Given the description of an element on the screen output the (x, y) to click on. 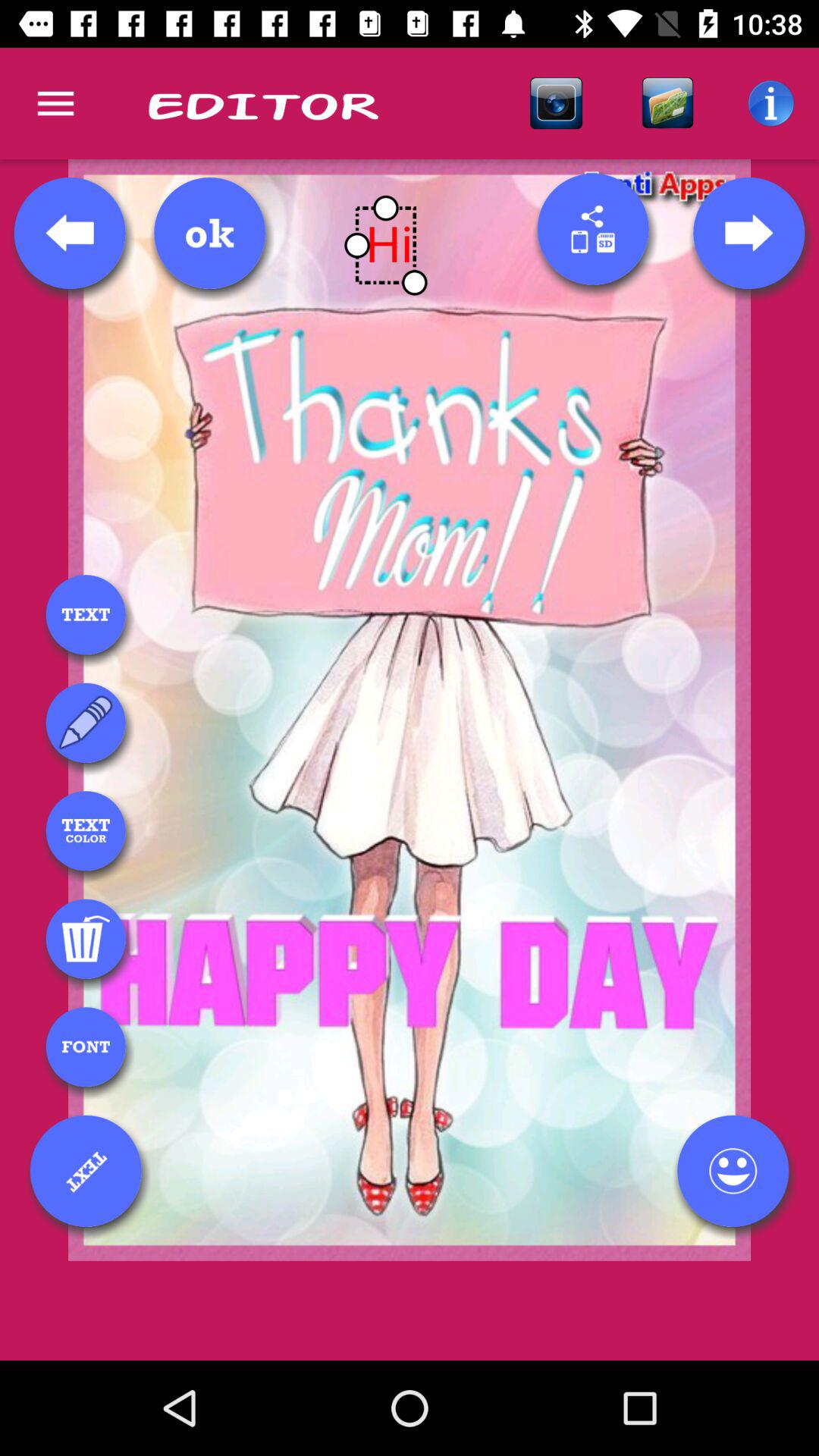
share your work (593, 229)
